Given the description of an element on the screen output the (x, y) to click on. 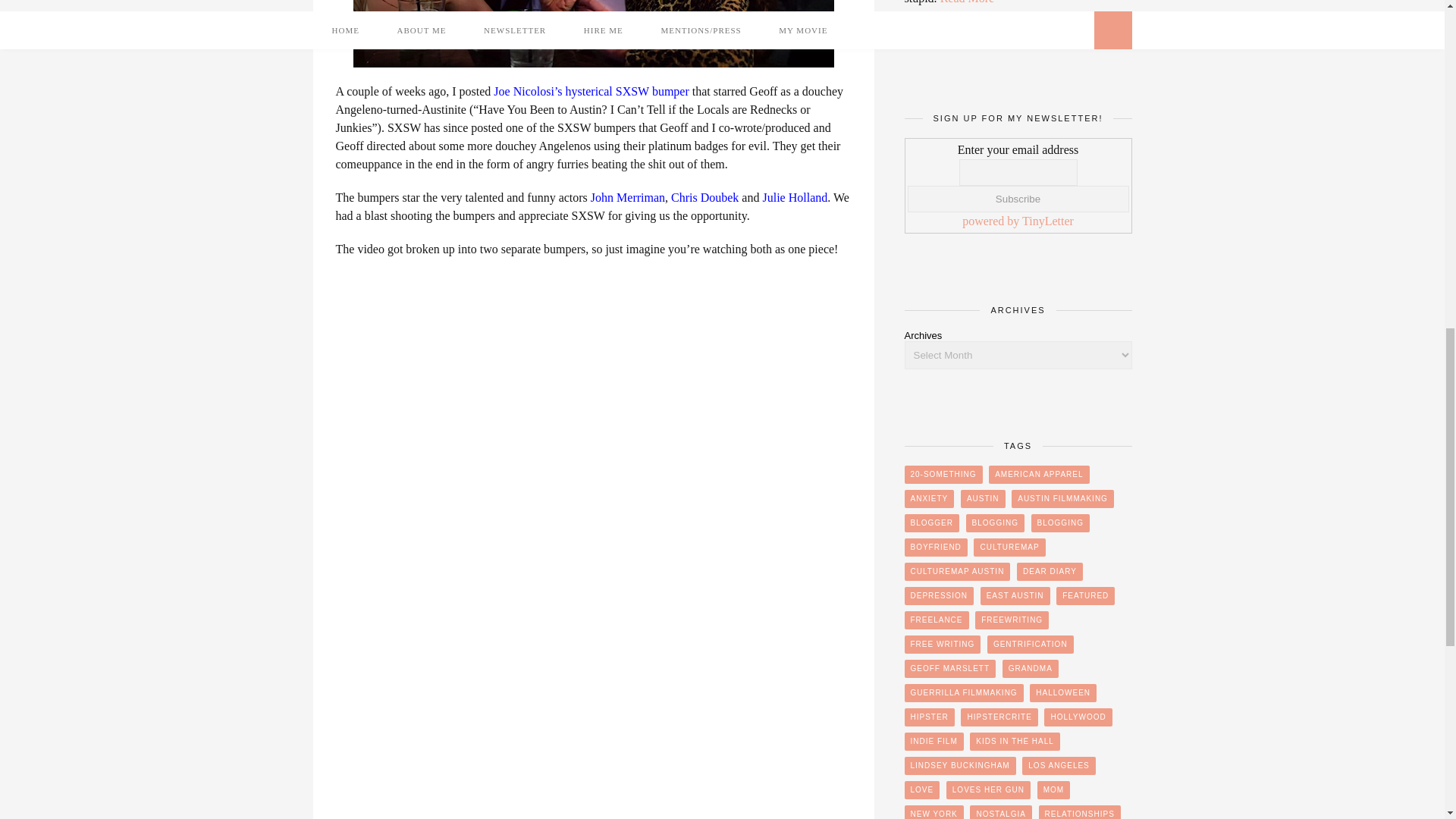
badgers (593, 33)
Chris Doubek (704, 196)
Subscribe (1017, 198)
Julie Holland (794, 196)
John Merriman (628, 196)
